Given the description of an element on the screen output the (x, y) to click on. 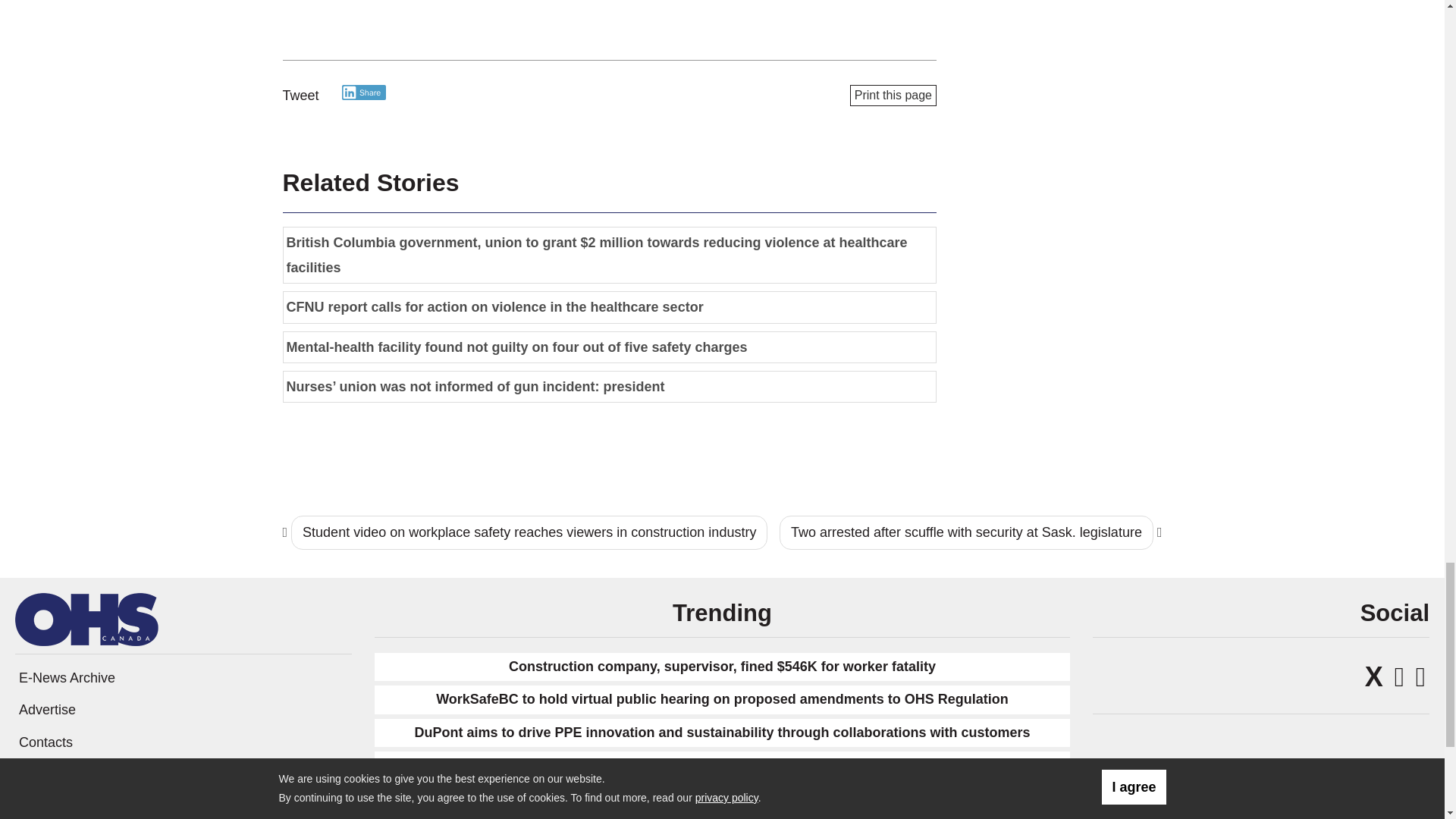
OHS Canada Magazine (86, 618)
